Given the description of an element on the screen output the (x, y) to click on. 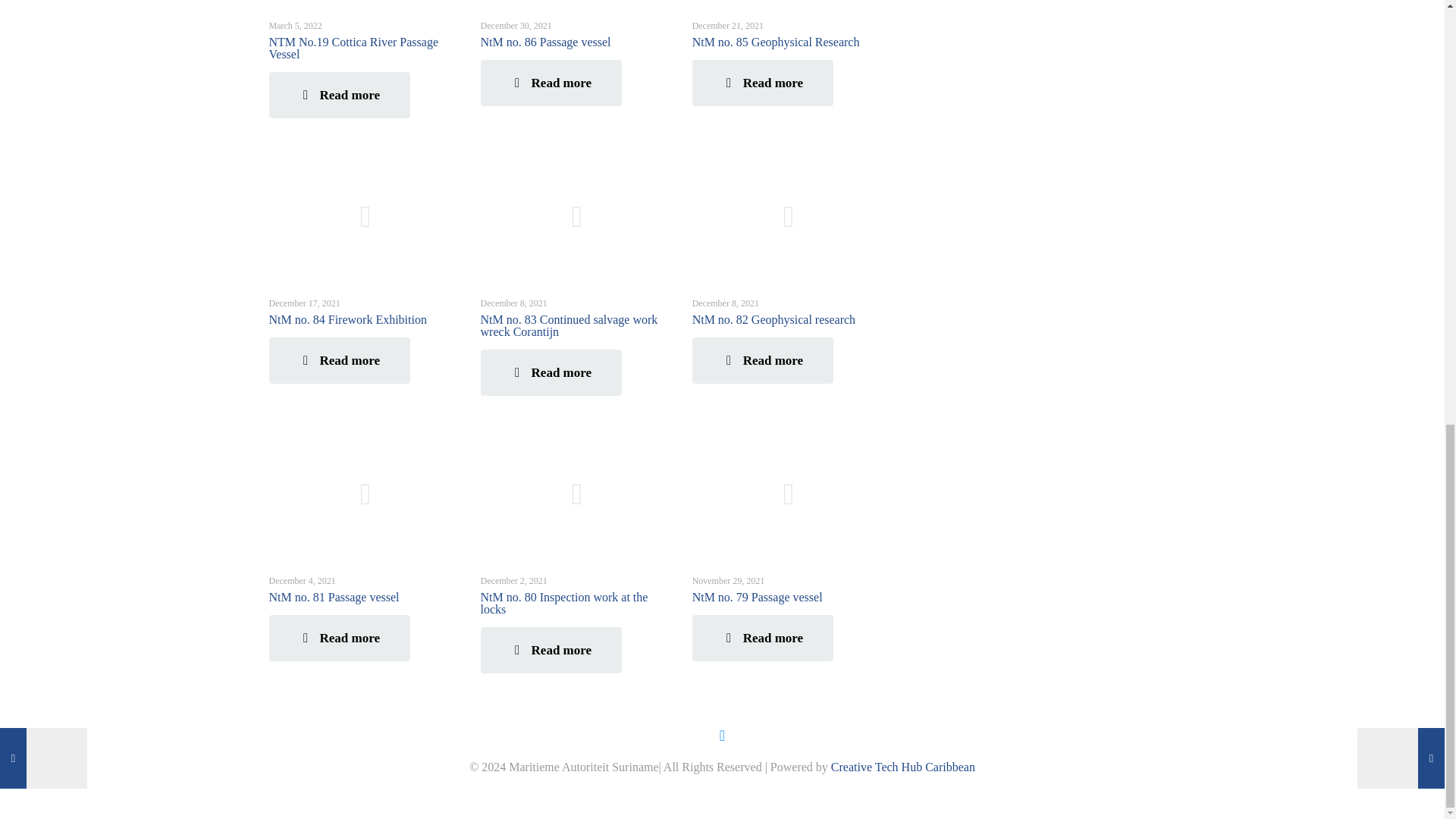
Read more (762, 82)
NtM no. 86 Passage vessel (545, 42)
NTM No.19 Cottica River Passage Vessel (352, 48)
Read more (550, 82)
Read more (338, 94)
NtM no. 85 Geophysical Research (776, 42)
